Given the description of an element on the screen output the (x, y) to click on. 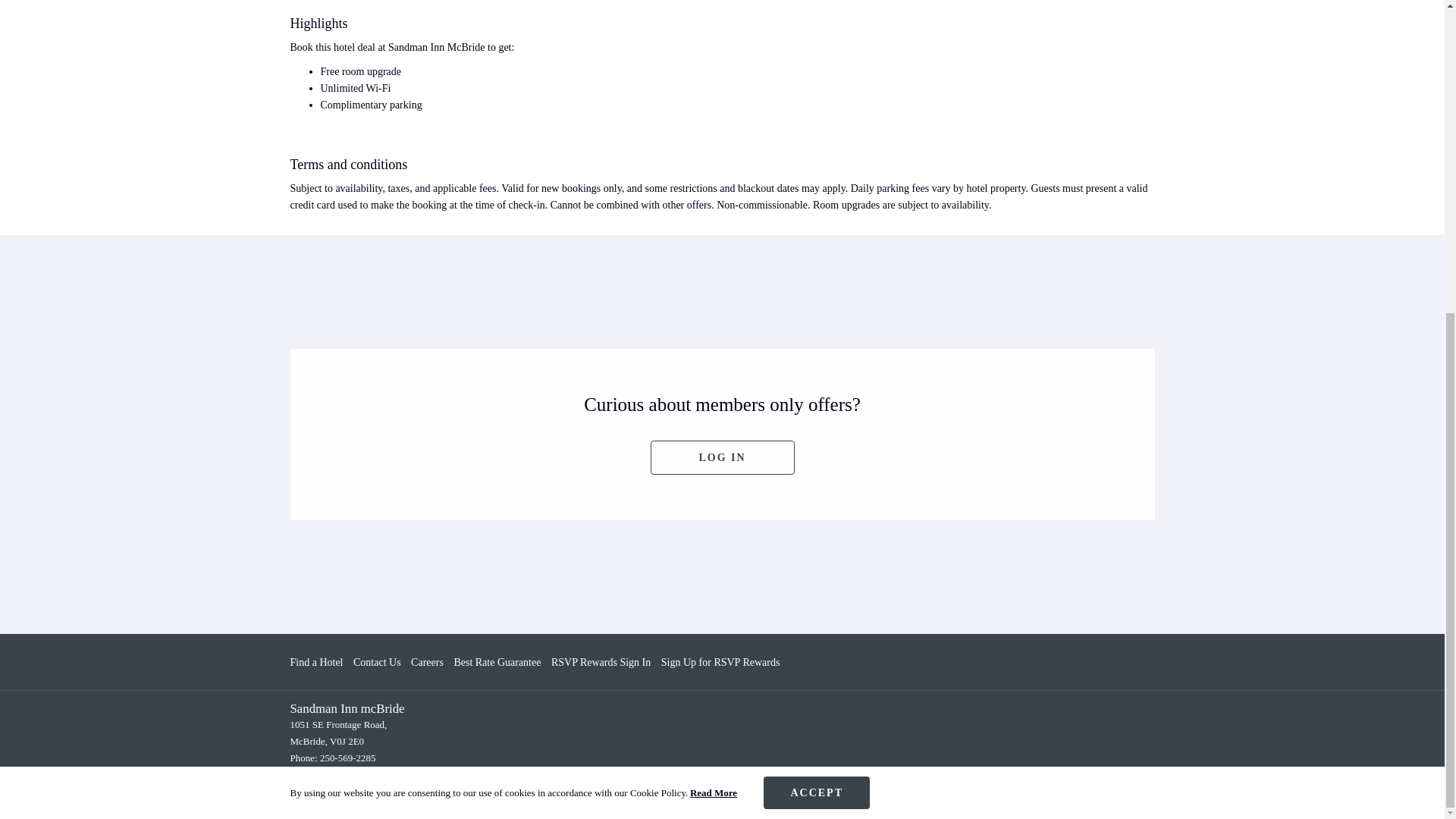
250-569-2285 (347, 757)
Best Rate Guarantee (496, 662)
Careers (427, 662)
Find a Hotel (315, 662)
ACCEPT (815, 293)
RSVP Rewards Sign In (600, 662)
Sign Up for RSVP Rewards (720, 662)
LOG IN (722, 457)
Privacy Policy (826, 798)
A Northland Properties Company (617, 798)
Read More (712, 293)
Notice of Accessibility (740, 798)
Contact Us (377, 662)
